Given the description of an element on the screen output the (x, y) to click on. 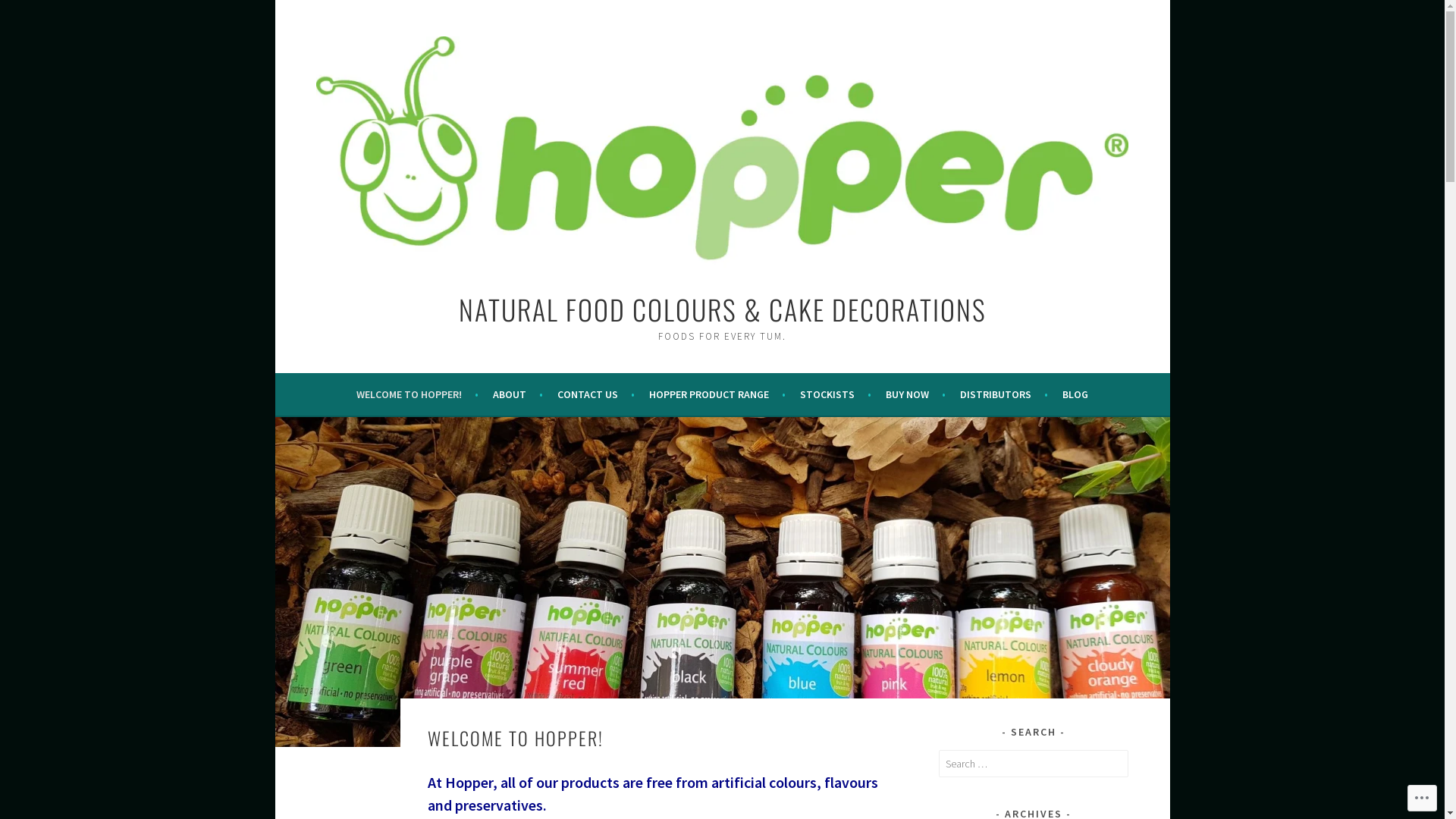
BLOG Element type: text (1075, 394)
CONTACT US Element type: text (595, 394)
Search Element type: text (27, 13)
BUY NOW Element type: text (915, 394)
NATURAL FOOD COLOURS & CAKE DECORATIONS Element type: text (721, 308)
STOCKISTS Element type: text (835, 394)
DISTRIBUTORS Element type: text (1004, 394)
HOPPER PRODUCT RANGE Element type: text (717, 394)
WELCOME TO HOPPER! Element type: text (417, 394)
ABOUT Element type: text (517, 394)
